Given the description of an element on the screen output the (x, y) to click on. 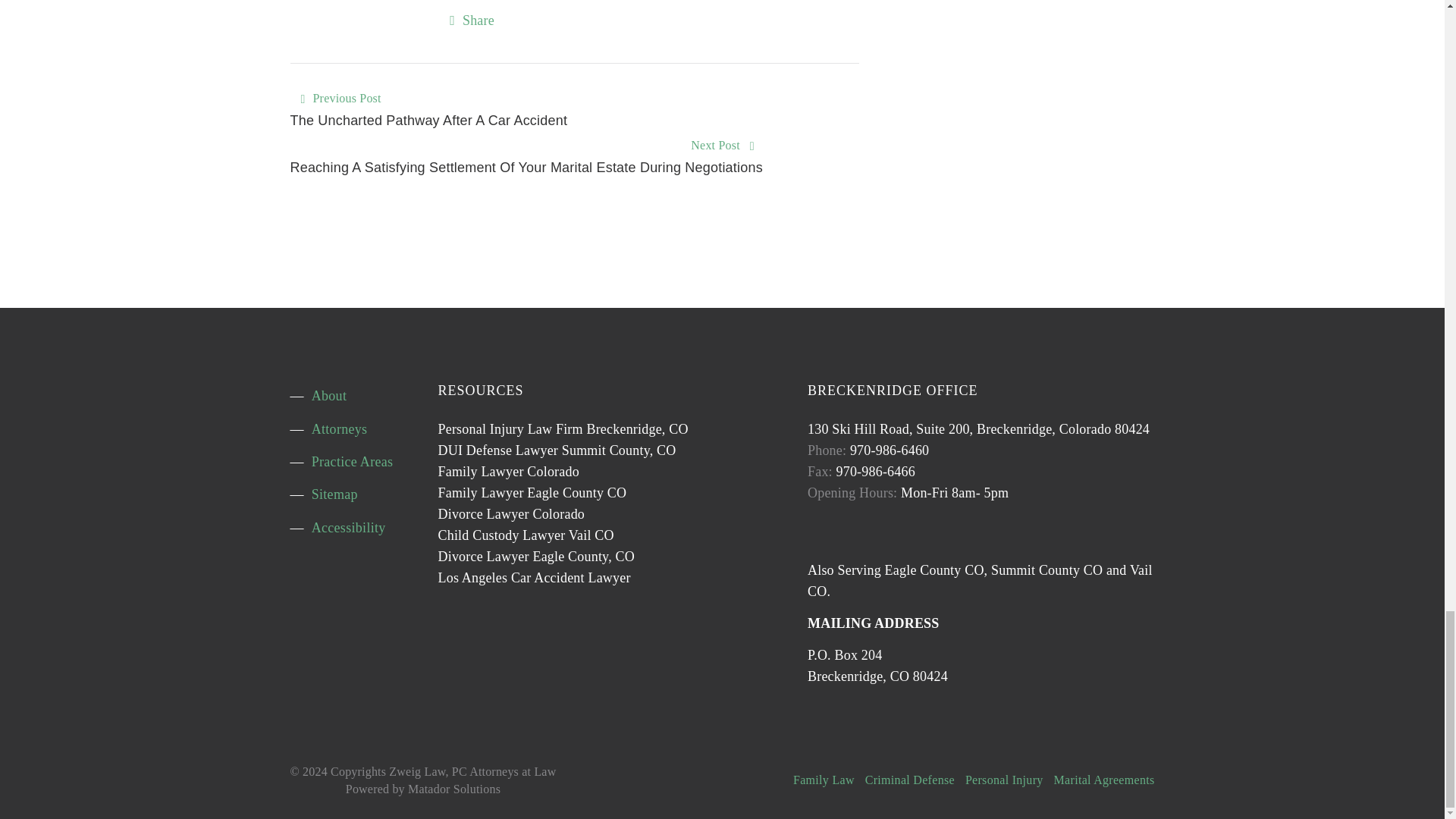
Practice Areas (352, 462)
Sitemap (334, 494)
Next Post (714, 145)
Previous Post (346, 98)
Attorneys (339, 429)
About (329, 396)
